Given the description of an element on the screen output the (x, y) to click on. 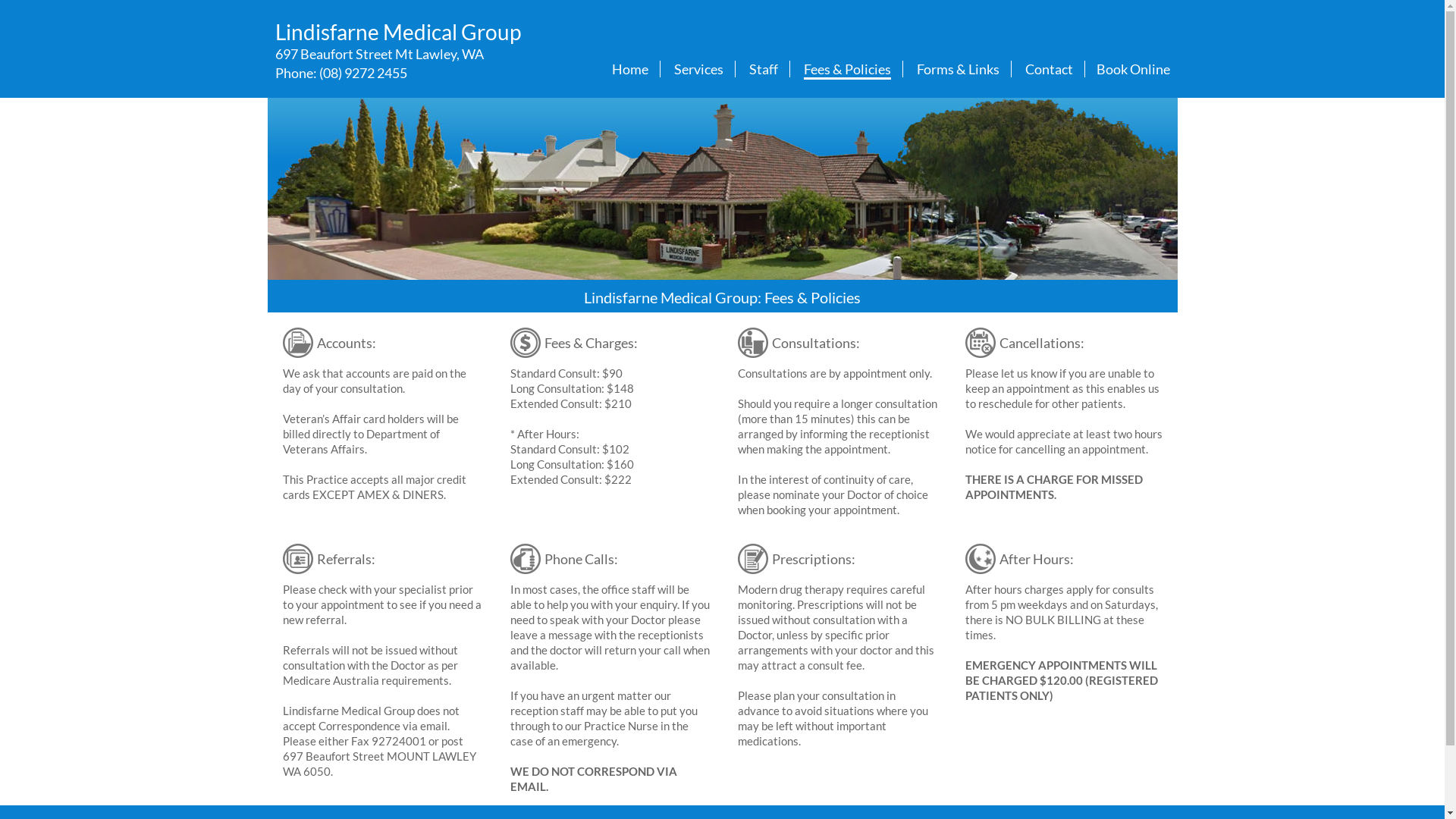
Staff Element type: text (763, 68)
Contact Element type: text (1049, 68)
Services Element type: text (697, 68)
697 Beaufort Street Mt Lawley, WA Element type: text (378, 53)
Fees & Policies Element type: text (847, 69)
Book Online Element type: text (1133, 68)
Home Element type: text (629, 68)
Forms & Links Element type: text (957, 68)
